Given the description of an element on the screen output the (x, y) to click on. 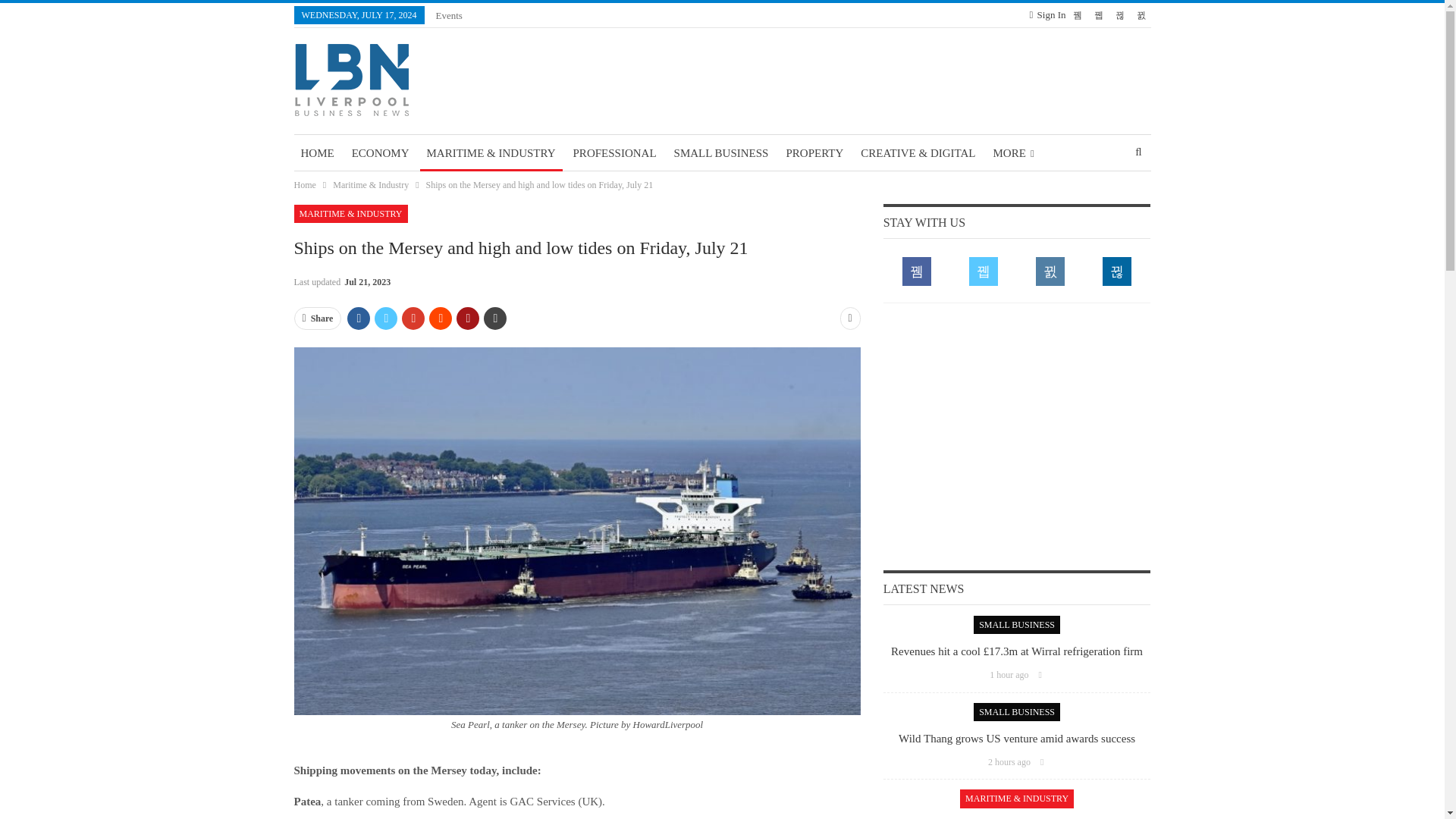
PROPERTY (814, 153)
HOME (317, 153)
SMALL BUSINESS (721, 153)
Events (449, 15)
MORE (1014, 153)
Advertisement (1016, 436)
ECONOMY (380, 153)
Sign In (1047, 14)
PROFESSIONAL (614, 153)
